Given the description of an element on the screen output the (x, y) to click on. 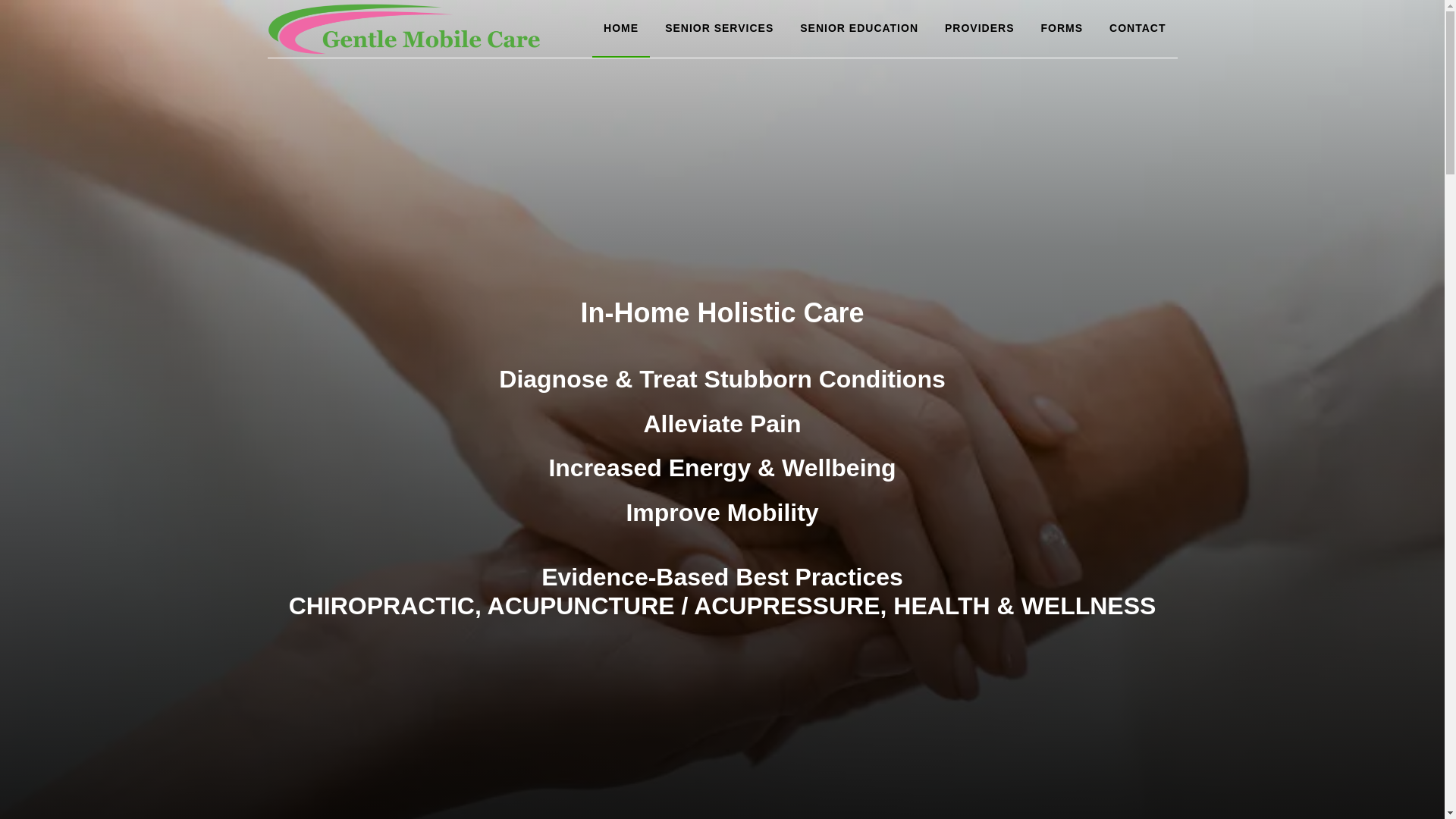
CONTACT (1136, 28)
SENIOR SERVICES (718, 28)
HOME (620, 28)
GENTLE MOBILE CARE (403, 28)
SENIOR EDUCATION (859, 28)
FORMS (1061, 28)
PROVIDERS (979, 28)
